Given the description of an element on the screen output the (x, y) to click on. 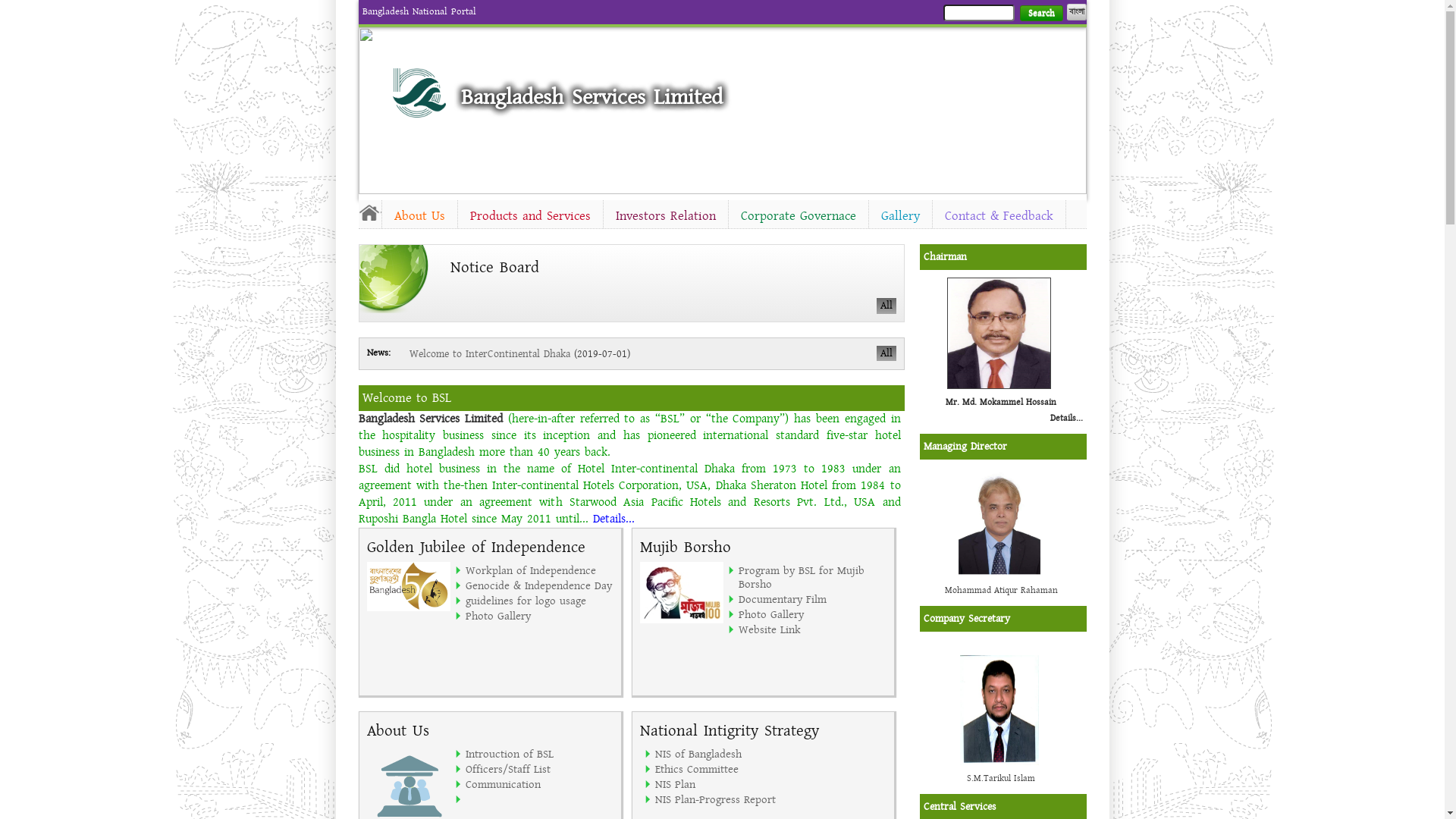
Photo Gallery Element type: text (812, 614)
Documentary Film Element type: text (812, 598)
Program by BSL for Mujib Borsho Element type: text (812, 576)
Search Element type: text (1040, 13)
Contact & Feedback Element type: text (998, 216)
Genocide & Independence Day Element type: text (539, 585)
Photo Gallery Element type: text (539, 615)
Investors Relation Element type: text (665, 216)
Corporate Governace Element type: text (797, 216)
Welcome to InterContinental Dhaka Element type: text (489, 353)
NIS Plan Element type: text (729, 783)
Gallery Element type: text (900, 216)
Details... Element type: text (1065, 417)
Home Element type: hover (368, 211)
NIS Plan-Progress Report Element type: text (729, 799)
NIS of Bangladesh Element type: text (729, 753)
About Us Element type: text (419, 216)
All Element type: text (886, 352)
Workplan of Independence Element type: text (539, 570)
Ethics Committee Element type: text (729, 768)
Communication Element type: text (539, 783)
Introuction of BSL Element type: text (539, 753)
Products and Services Element type: text (530, 216)
Website Link Element type: text (812, 629)
Details... Element type: text (613, 518)
Home Element type: hover (418, 92)
All Element type: text (886, 305)
Officers/Staff List Element type: text (539, 768)
Bangladesh Services Limited Element type: text (591, 96)
Bangladesh National Portal Element type: text (419, 11)
guidelines for logo usage Element type: text (539, 600)
